Given the description of an element on the screen output the (x, y) to click on. 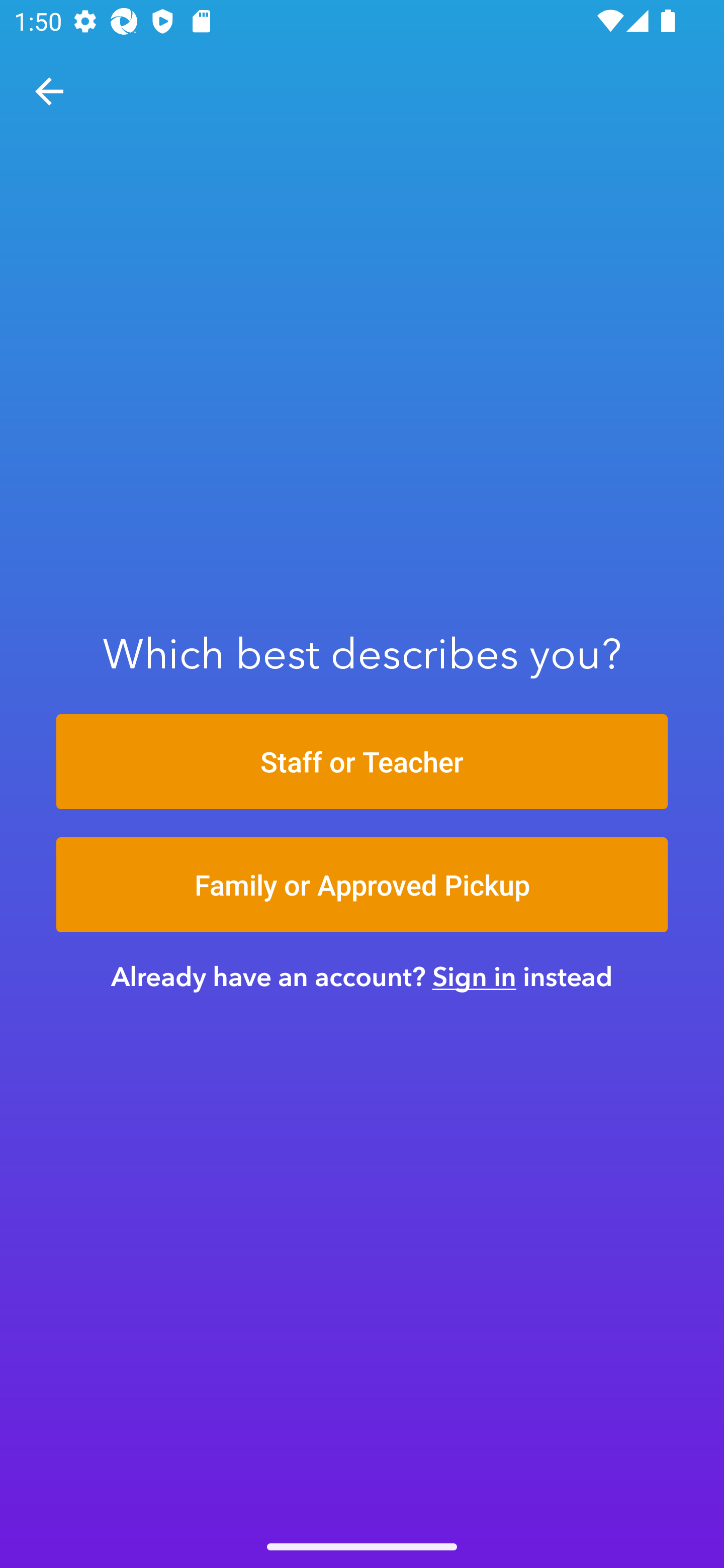
Navigate up (49, 91)
Staff or Teacher (361, 761)
Family or Approved Pickup (361, 884)
Already have an account? Sign in instead (361, 975)
